Given the description of an element on the screen output the (x, y) to click on. 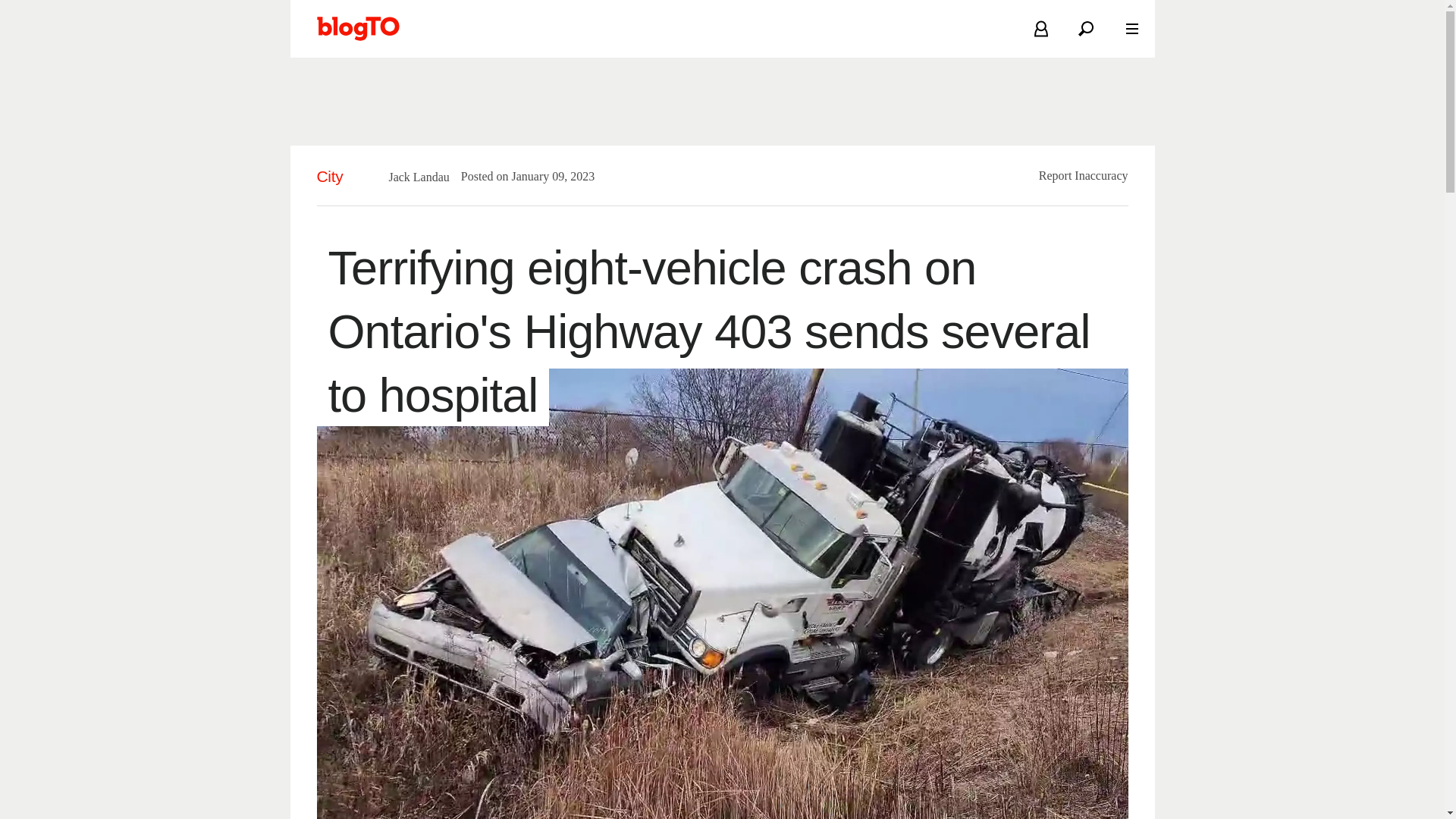
2023-01-09T11:42:58 (545, 175)
